Given the description of an element on the screen output the (x, y) to click on. 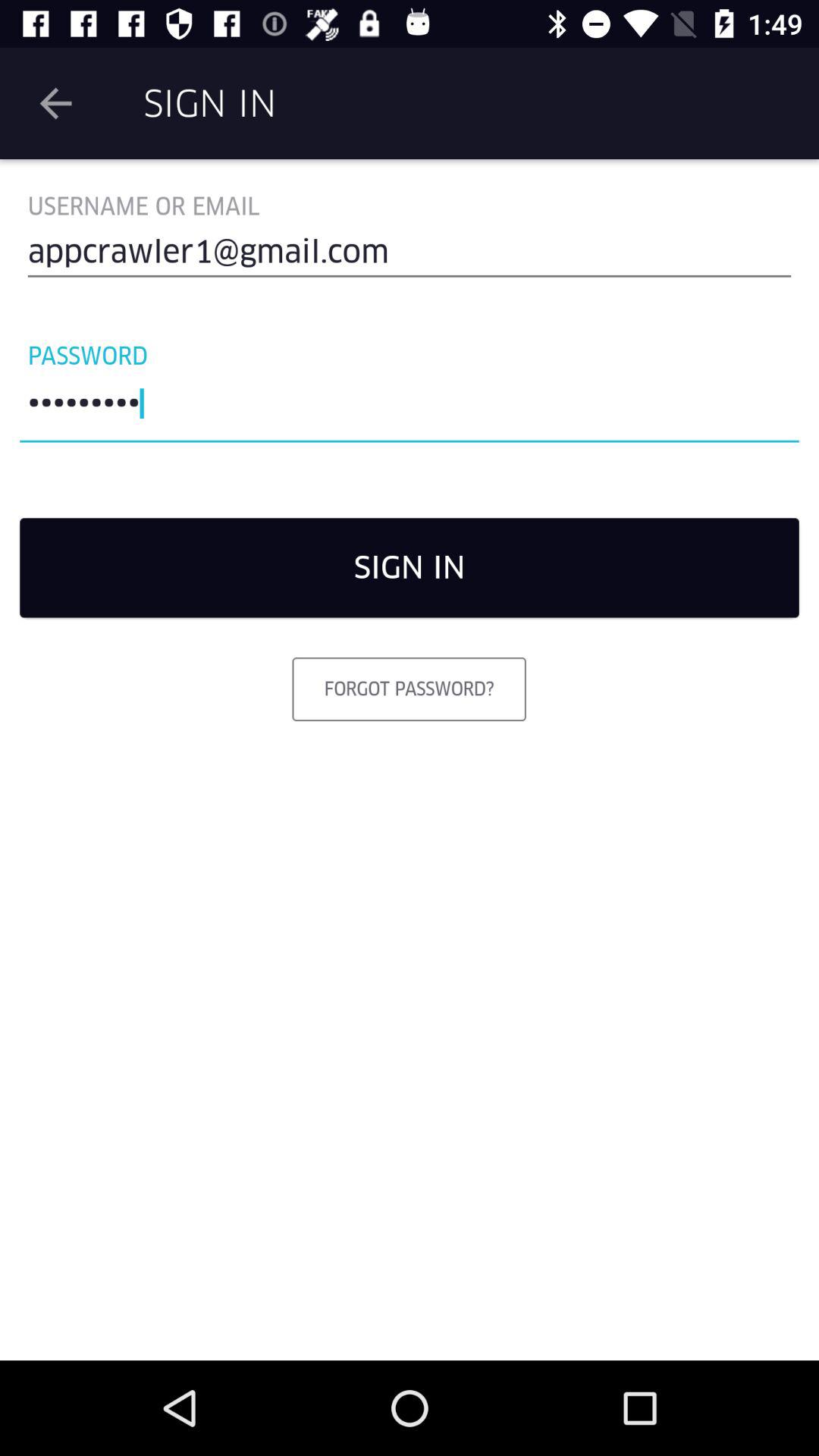
turn off appcrawler1@gmail.com icon (409, 257)
